Given the description of an element on the screen output the (x, y) to click on. 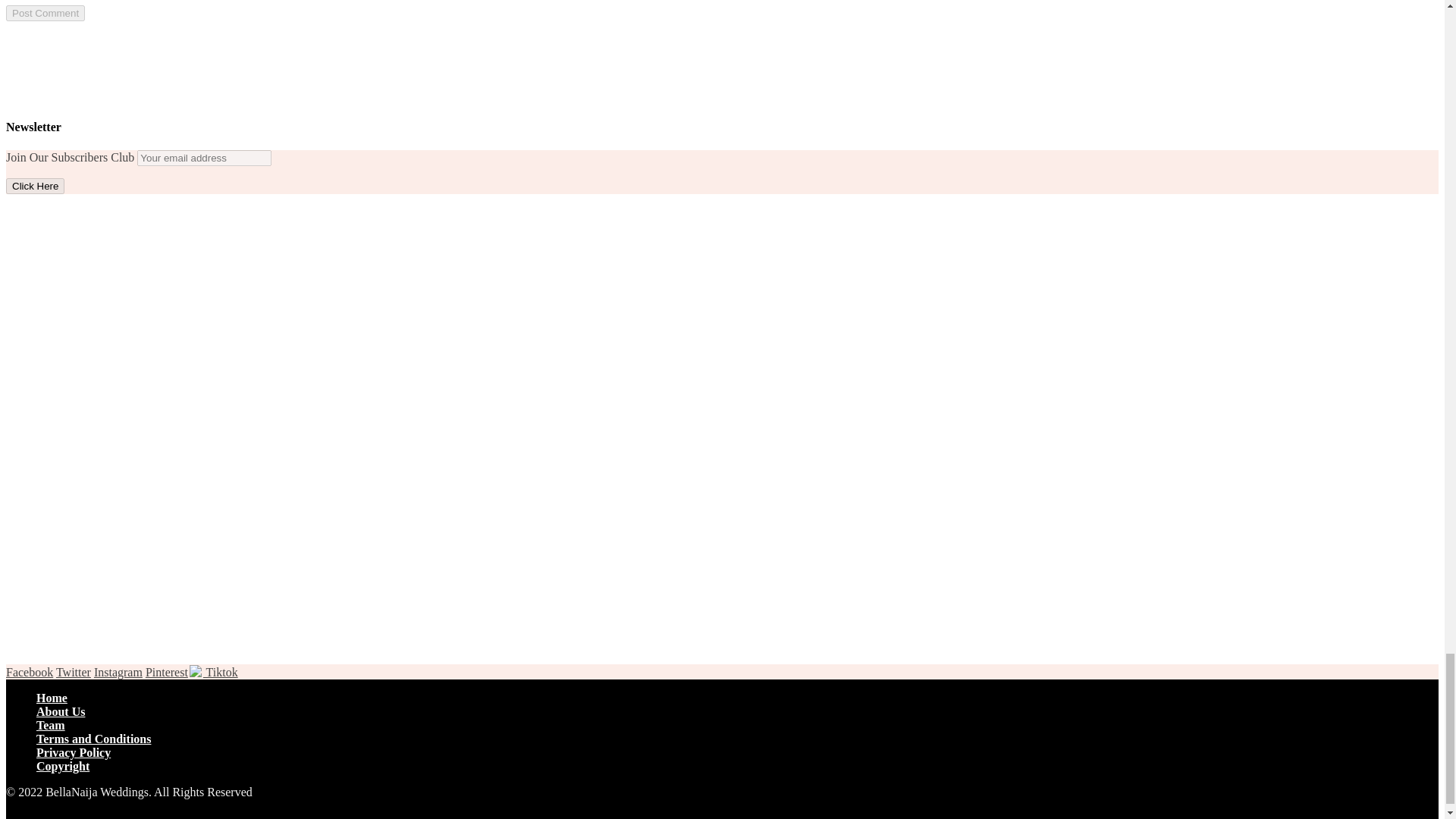
Instagram (118, 671)
Click Here (34, 186)
Twitter (73, 671)
Post Comment (44, 12)
About Us (60, 711)
Post Comment (44, 12)
Facebook (28, 671)
Click Here (34, 186)
Home (51, 697)
Tiktok (214, 671)
Pinterest (166, 671)
